Given the description of an element on the screen output the (x, y) to click on. 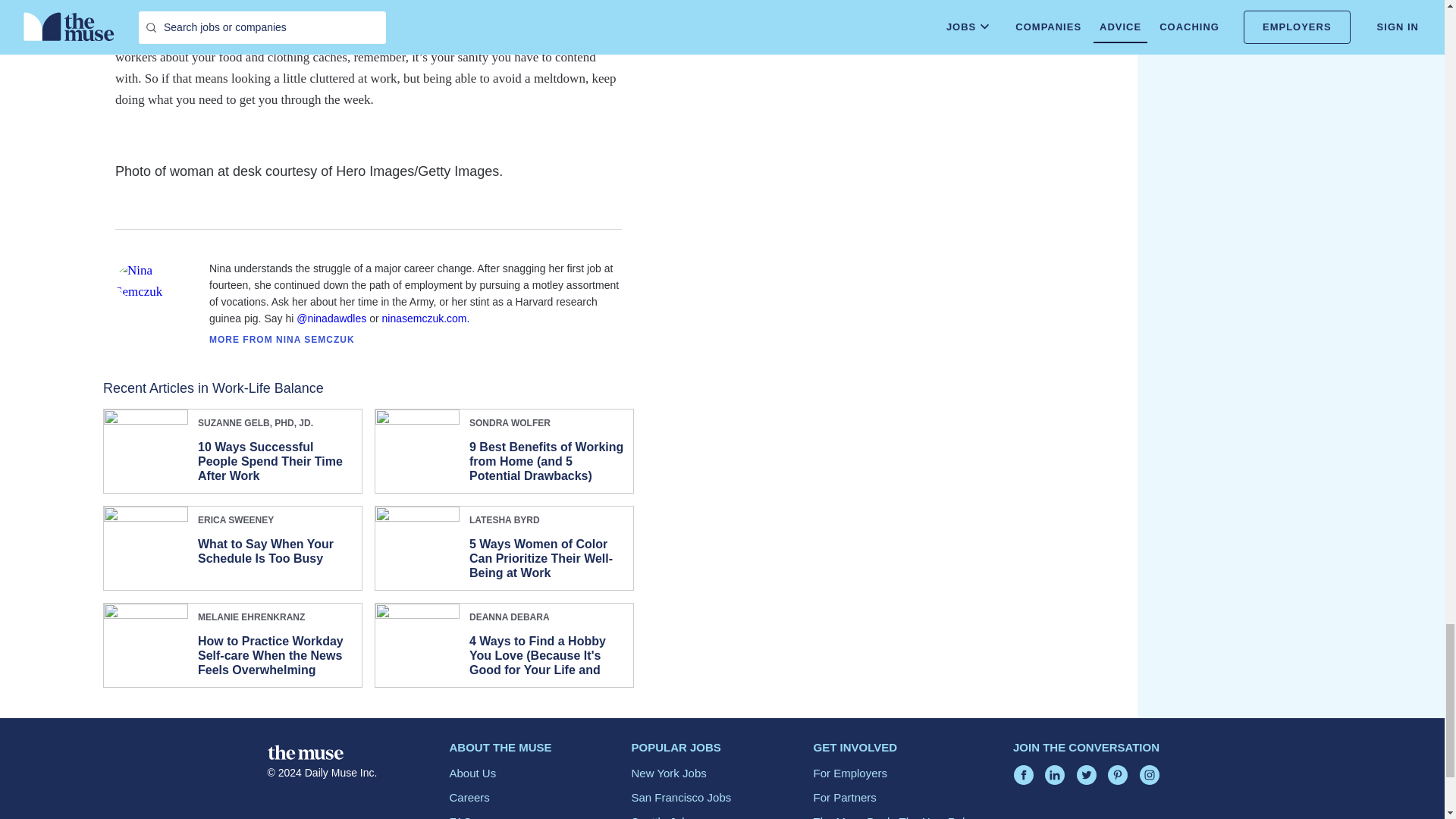
The Muse LogoA logo with "the muse" in white text. (304, 752)
